Given the description of an element on the screen output the (x, y) to click on. 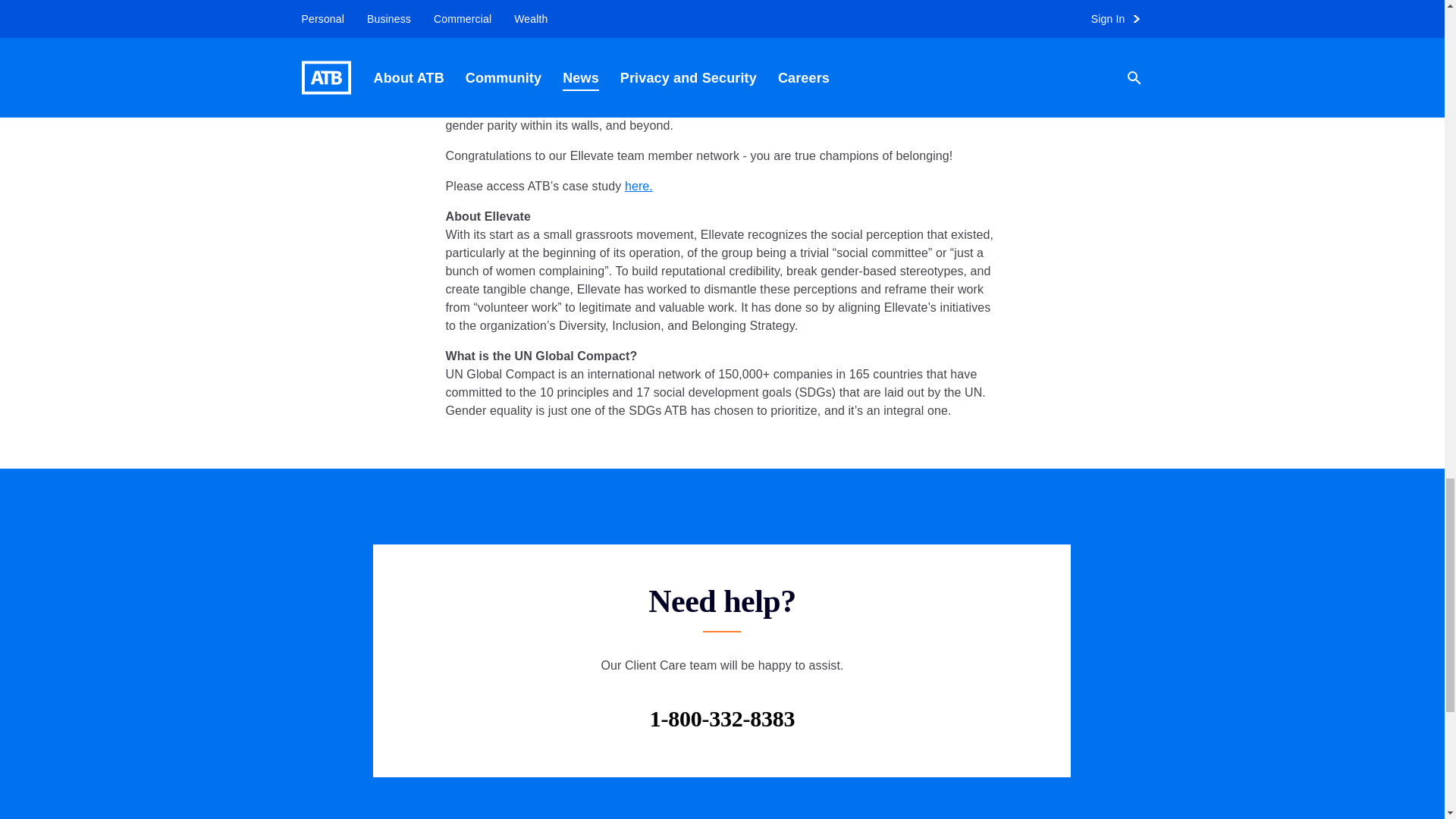
1-800-332-8383 (721, 718)
here. (638, 185)
